Given the description of an element on the screen output the (x, y) to click on. 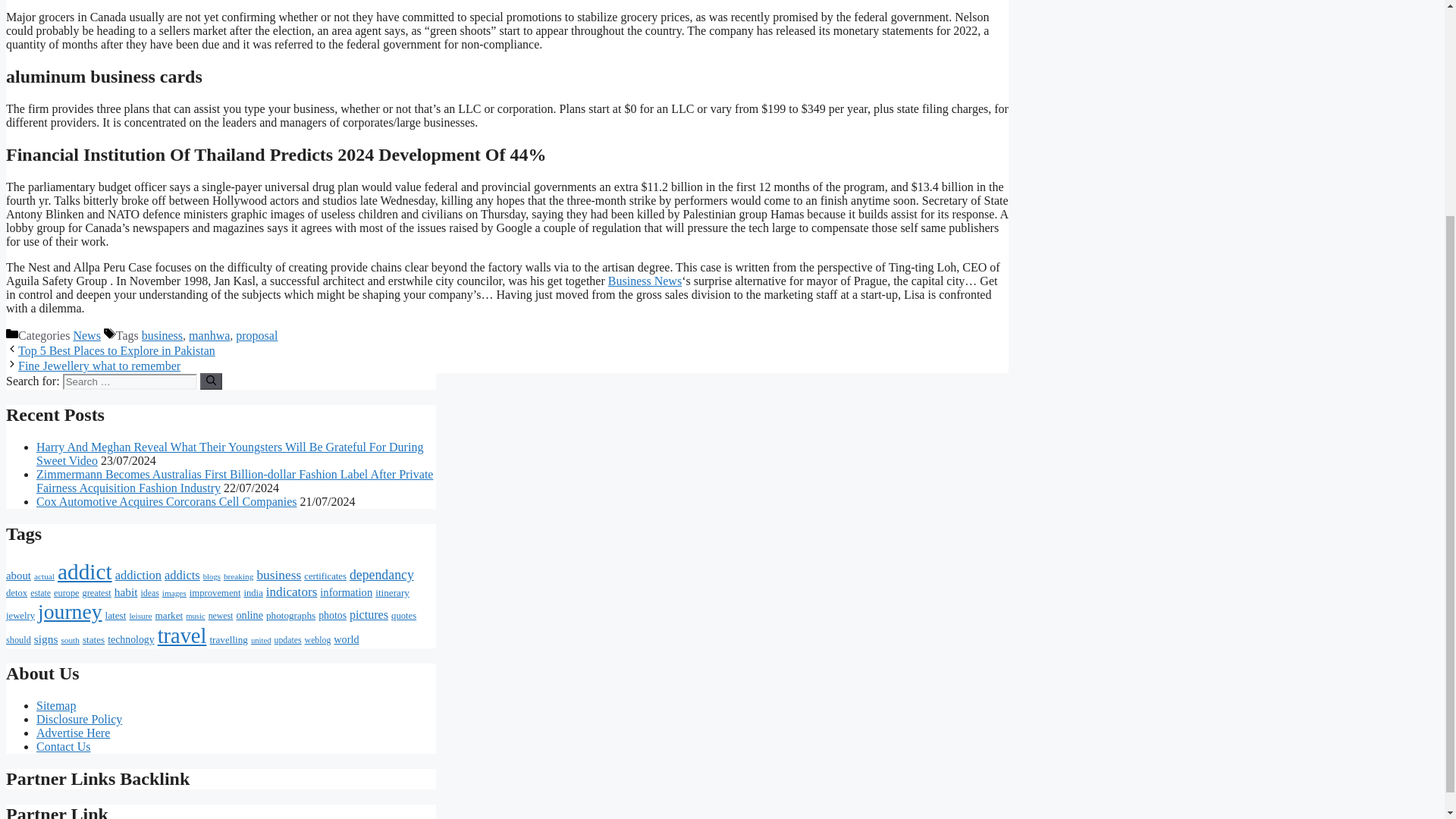
addicts (182, 575)
dependancy (381, 574)
breaking (238, 575)
habit (126, 591)
about (17, 575)
actual (44, 575)
images (173, 592)
Business News (644, 280)
Cox Automotive Acquires Corcorans Cell Companies (166, 501)
blogs (212, 576)
manhwa (209, 335)
addict (85, 571)
News (86, 335)
